Given the description of an element on the screen output the (x, y) to click on. 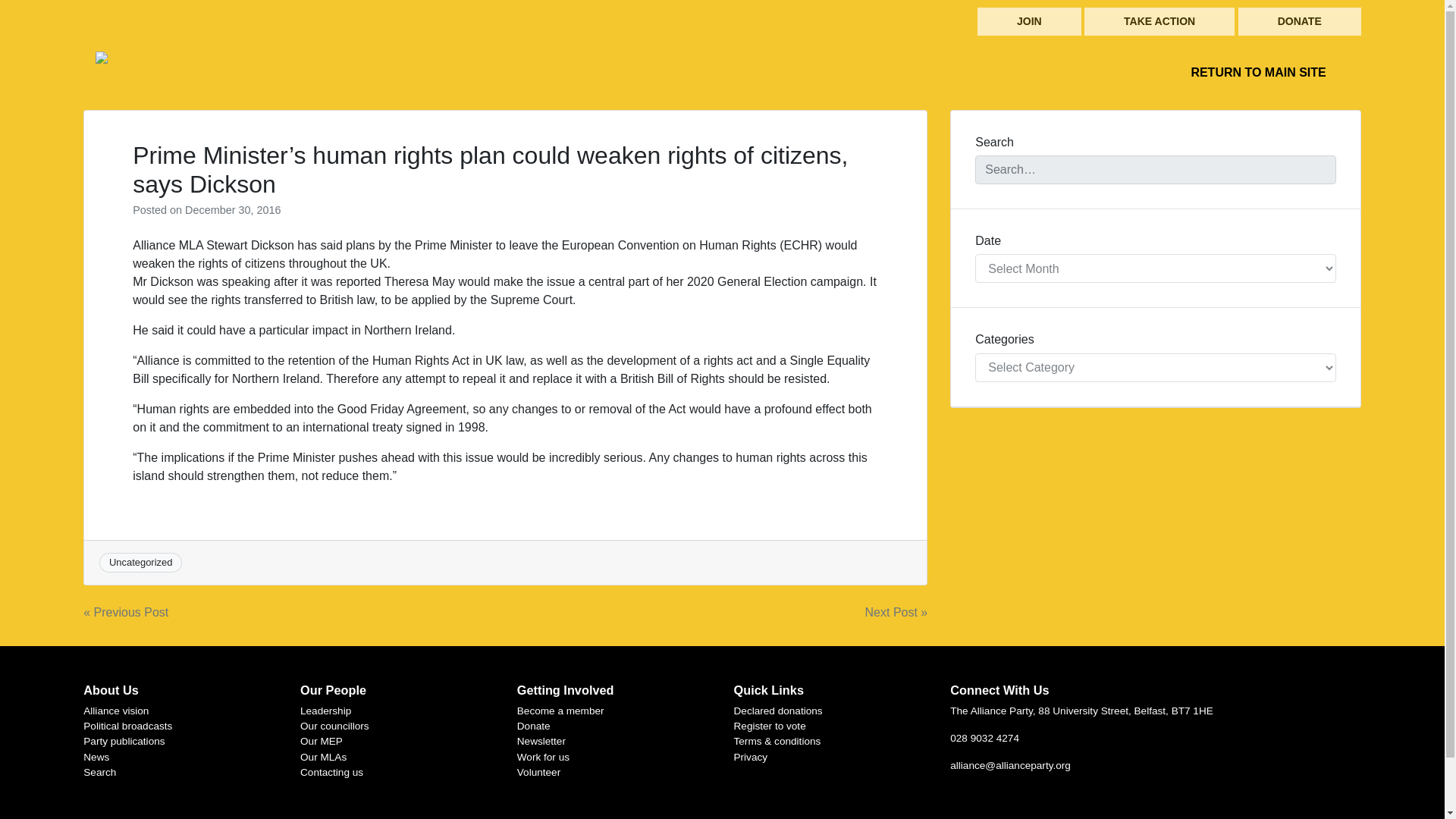
Newsletter (541, 740)
Declared donations (777, 710)
028 9032 4274 (984, 737)
Volunteer (538, 772)
Register to vote (769, 726)
Leadership (324, 710)
Work for us (542, 756)
TAKE ACTION (1159, 21)
Our MLAs (322, 756)
Donate (533, 726)
